Given the description of an element on the screen output the (x, y) to click on. 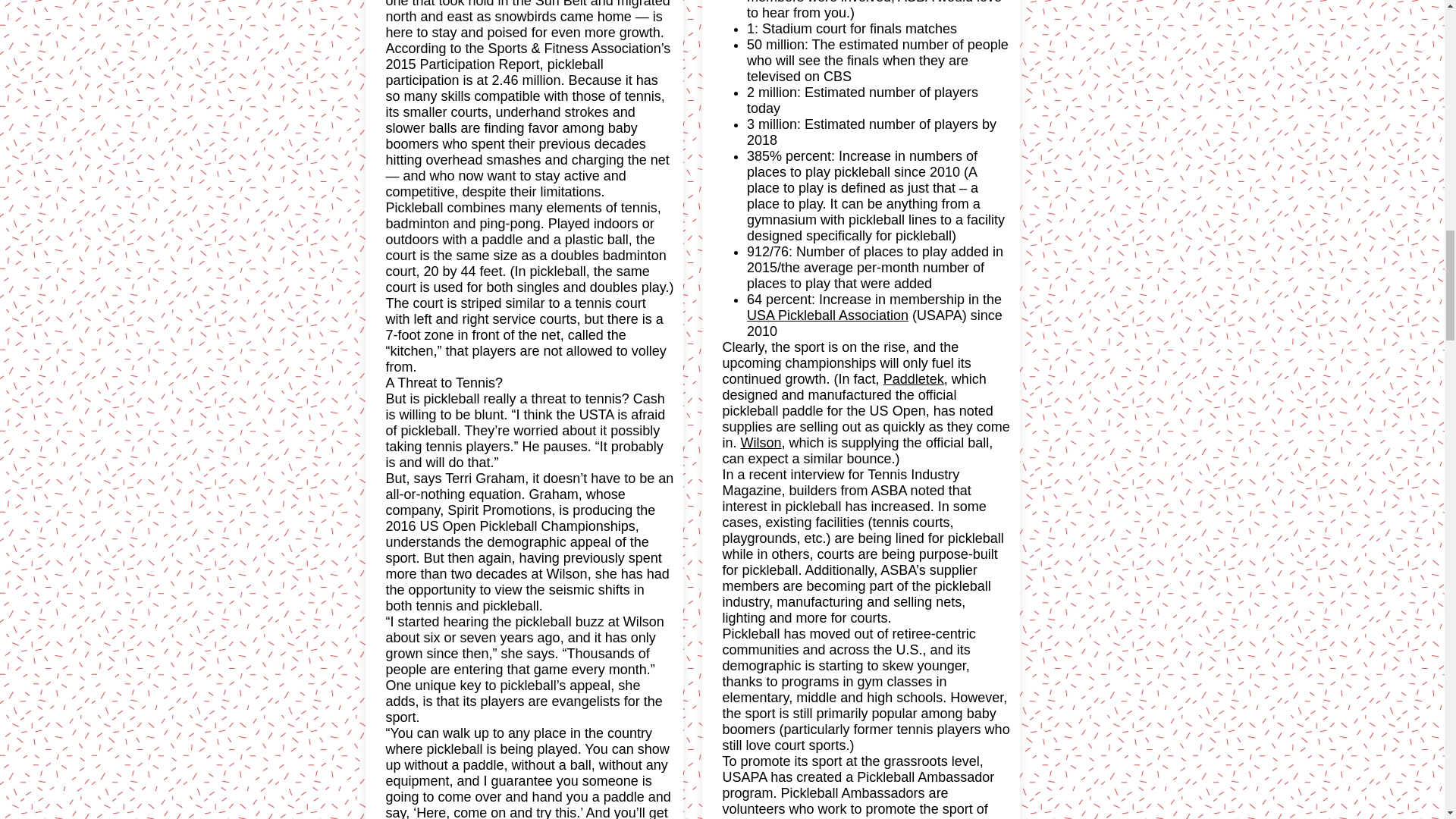
Paddletek (913, 378)
USA Pickleball Association (827, 314)
Wilson (761, 442)
